Given the description of an element on the screen output the (x, y) to click on. 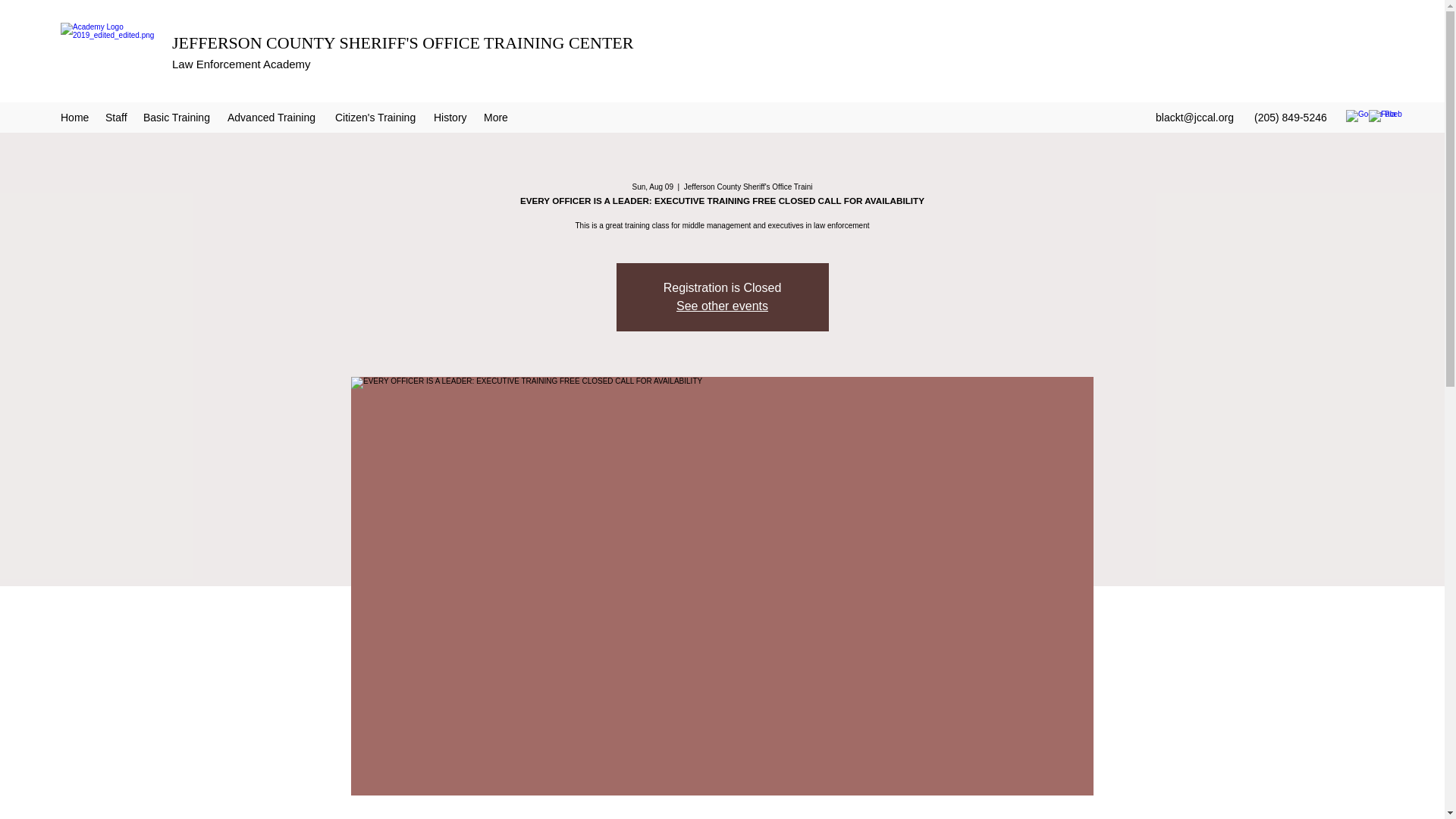
See other events (722, 305)
JEFFERSON COUNTY SHERIFF'S OFFICE TRAINING CENTER (402, 42)
History (451, 117)
Basic Training (177, 117)
Staff (116, 117)
Citizen's Training (376, 117)
Advanced Training (273, 117)
Home (74, 117)
